Given the description of an element on the screen output the (x, y) to click on. 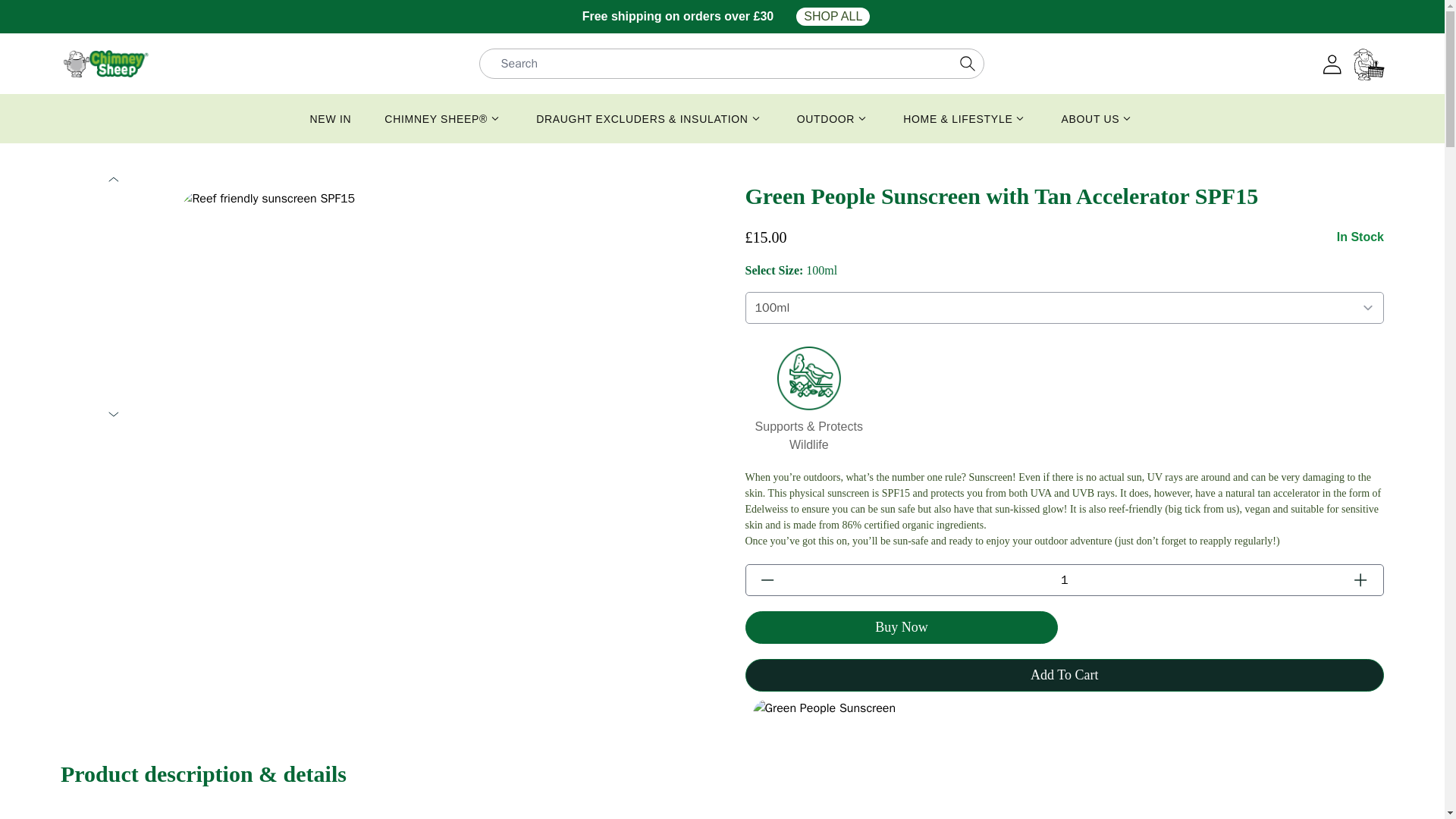
OUTDOOR (833, 118)
ABOUT US (1096, 118)
SHOP ALL (832, 15)
NEW IN (331, 118)
1 (1064, 580)
